Given the description of an element on the screen output the (x, y) to click on. 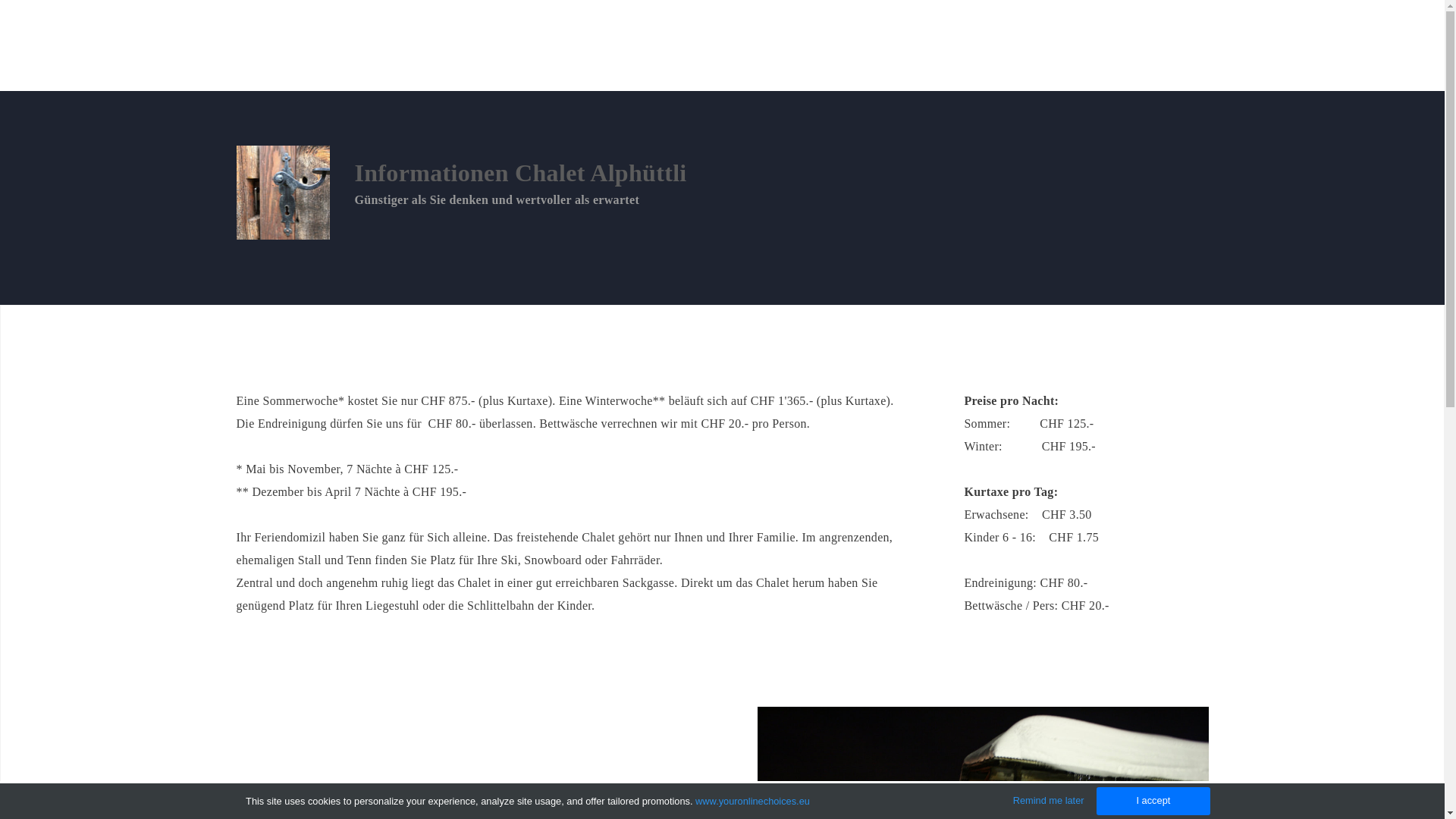
Remind me later Element type: text (1048, 800)
www.youronlinechoices.eu Element type: text (752, 800)
I accept Element type: text (1153, 801)
